Given the description of an element on the screen output the (x, y) to click on. 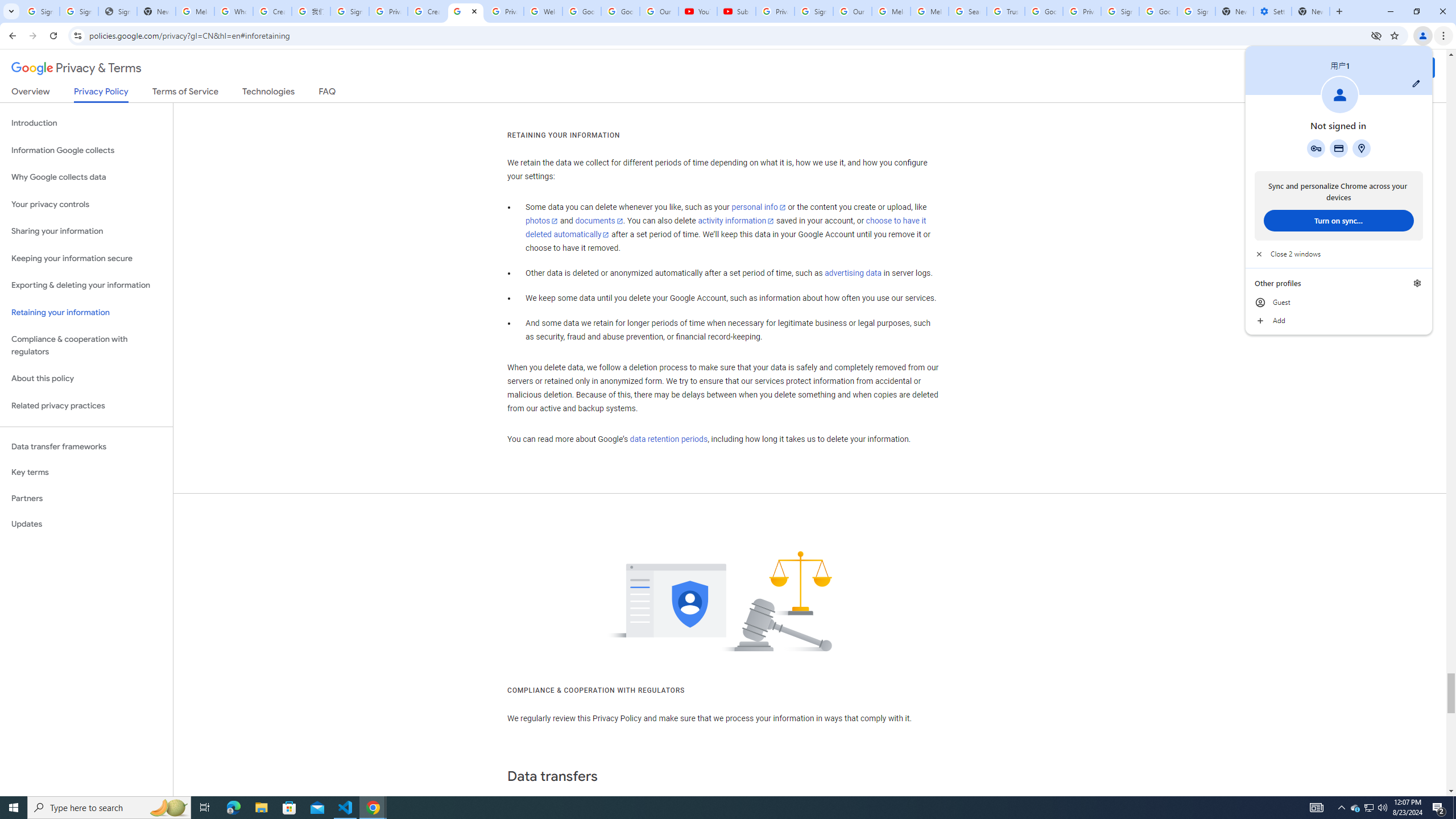
activity information (735, 221)
Welcome to My Activity (542, 11)
AutomationID: 4105 (1316, 807)
Why Google collects data (86, 176)
Manage profiles (1417, 283)
User Promoted Notification Area (1368, 807)
Your privacy controls (86, 204)
Notification Chevron (1341, 807)
